Given the description of an element on the screen output the (x, y) to click on. 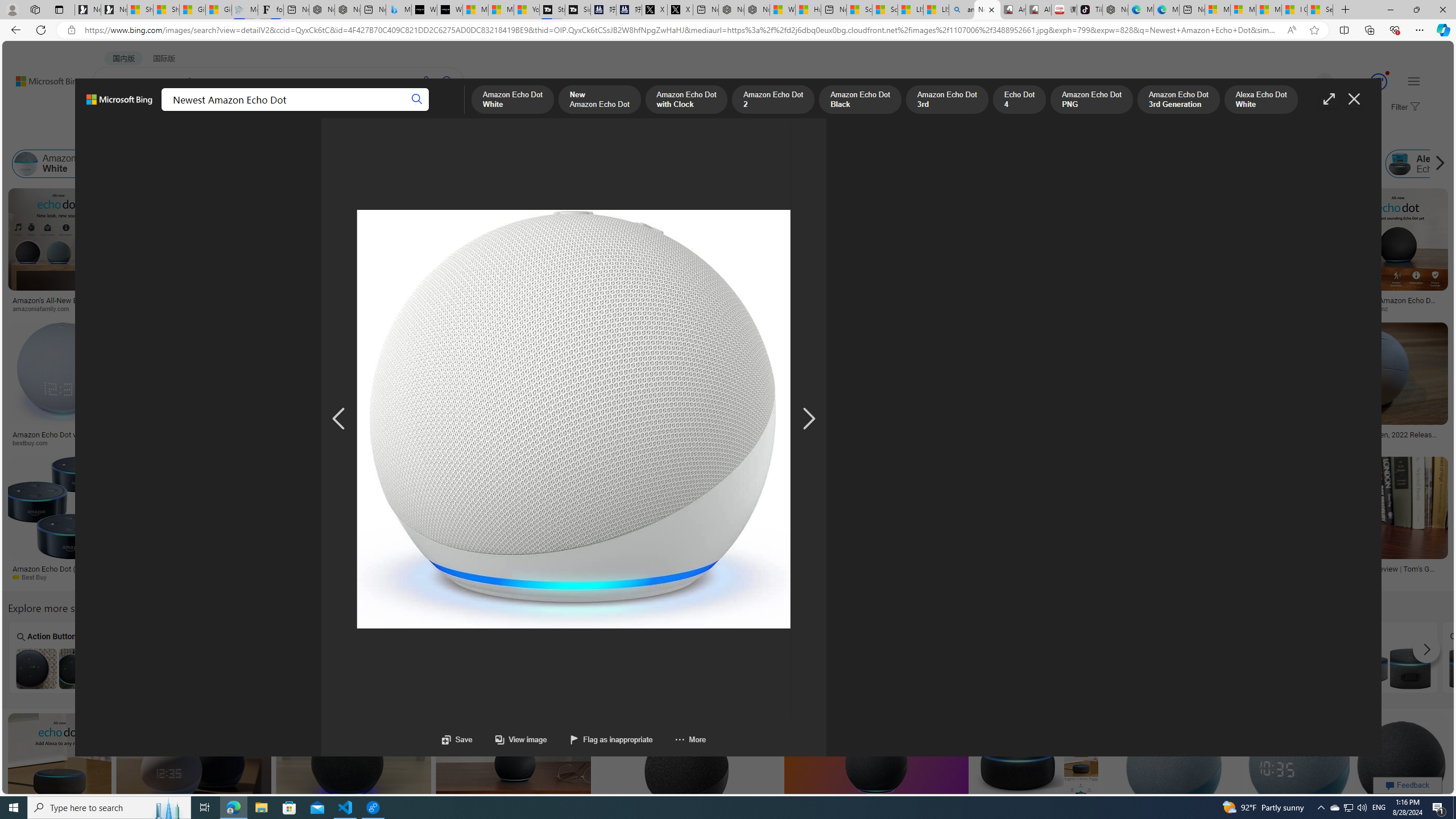
Echo Dot Kids Edition (689, 296)
exotique.com.mt (879, 442)
Amazon Echo Dot 3rd Generation (954, 163)
New Amazon Echo Dot (189, 163)
Review: SkyBell HD (847, 308)
Owl Nest (569, 656)
Newest Amazon Echo Dot - Search Images (986, 9)
